Given the description of an element on the screen output the (x, y) to click on. 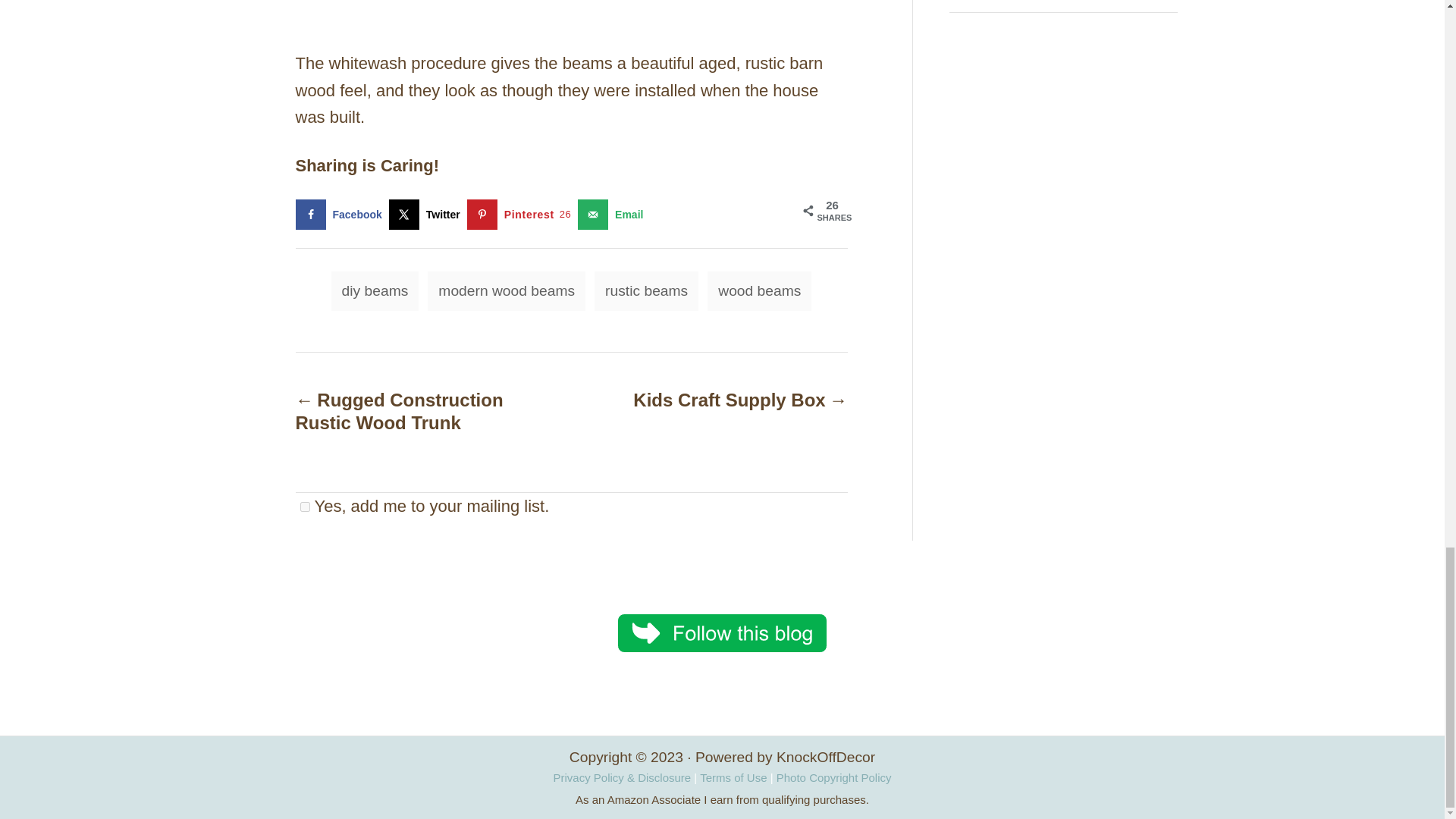
Send over email (613, 214)
Share on Facebook (341, 214)
1 (304, 506)
Share on X (427, 214)
Save to Pinterest (522, 214)
